Given the description of an element on the screen output the (x, y) to click on. 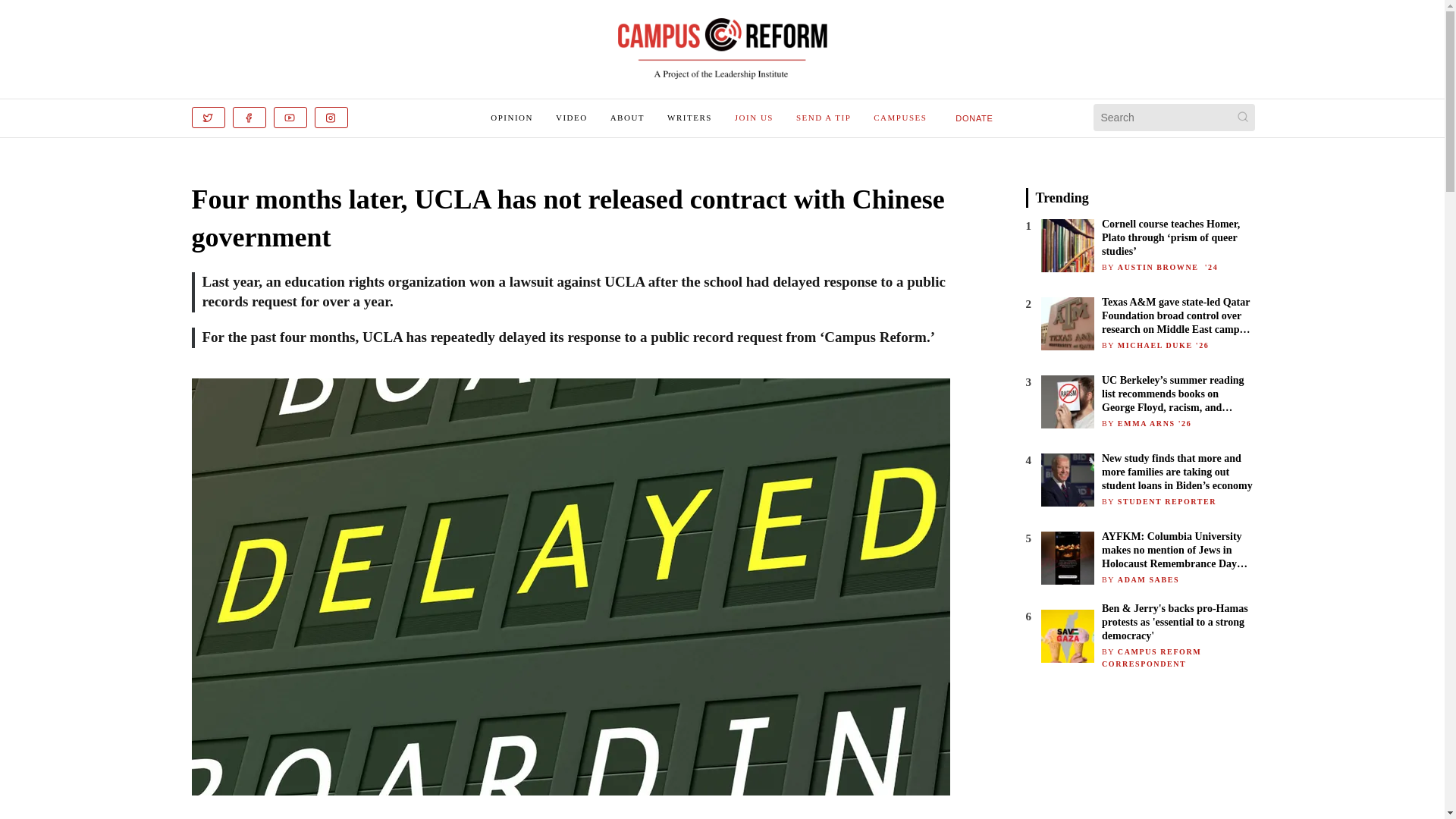
ABOUT (627, 117)
DONATE (974, 117)
SEND A TIP (823, 117)
VIDEO (572, 117)
CAMPUSES (899, 117)
OPINION (511, 117)
WRITERS (688, 117)
DONATE (974, 117)
JOIN US (754, 117)
